Given the description of an element on the screen output the (x, y) to click on. 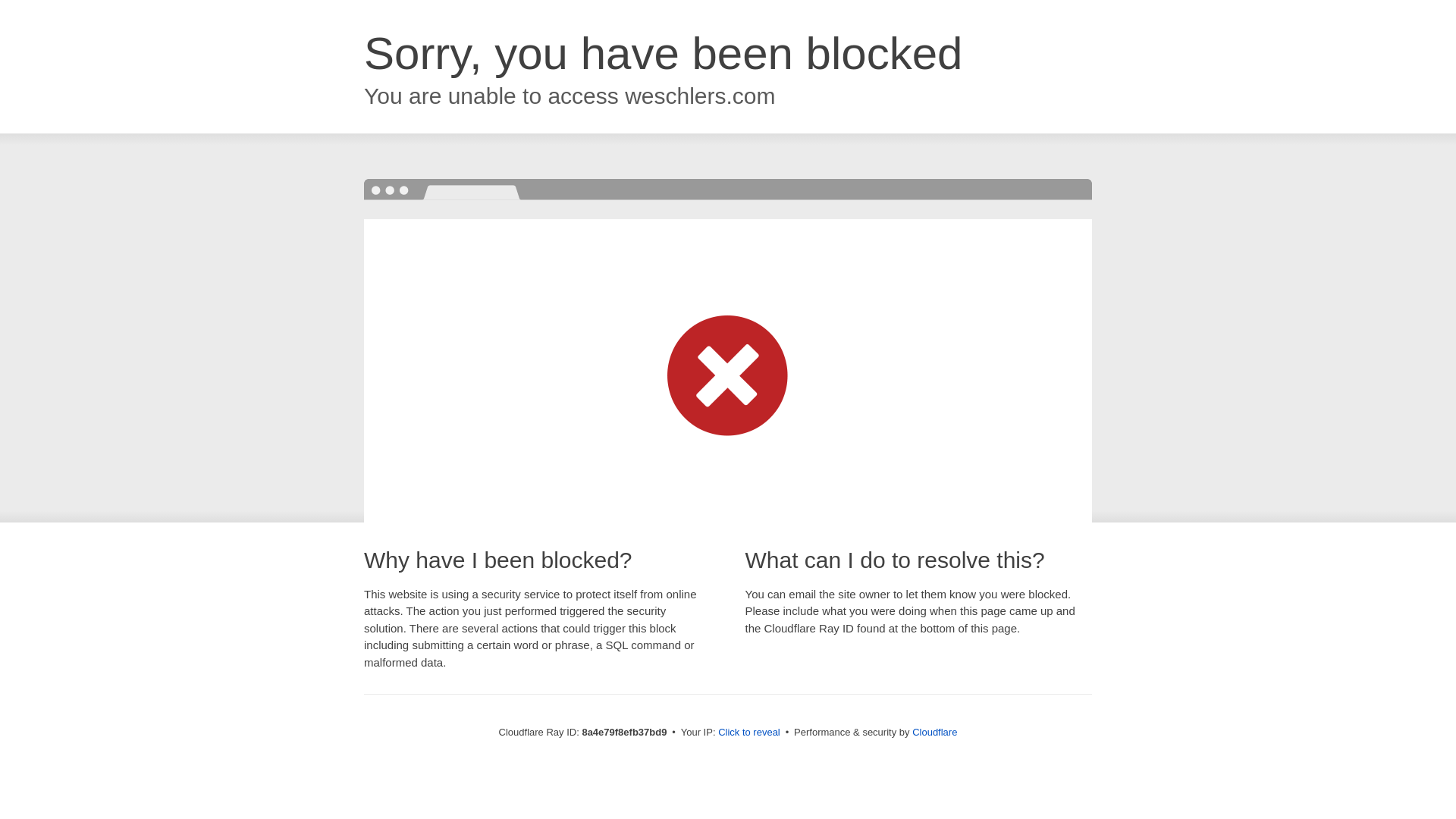
Click to reveal (748, 732)
Cloudflare (934, 731)
